Given the description of an element on the screen output the (x, y) to click on. 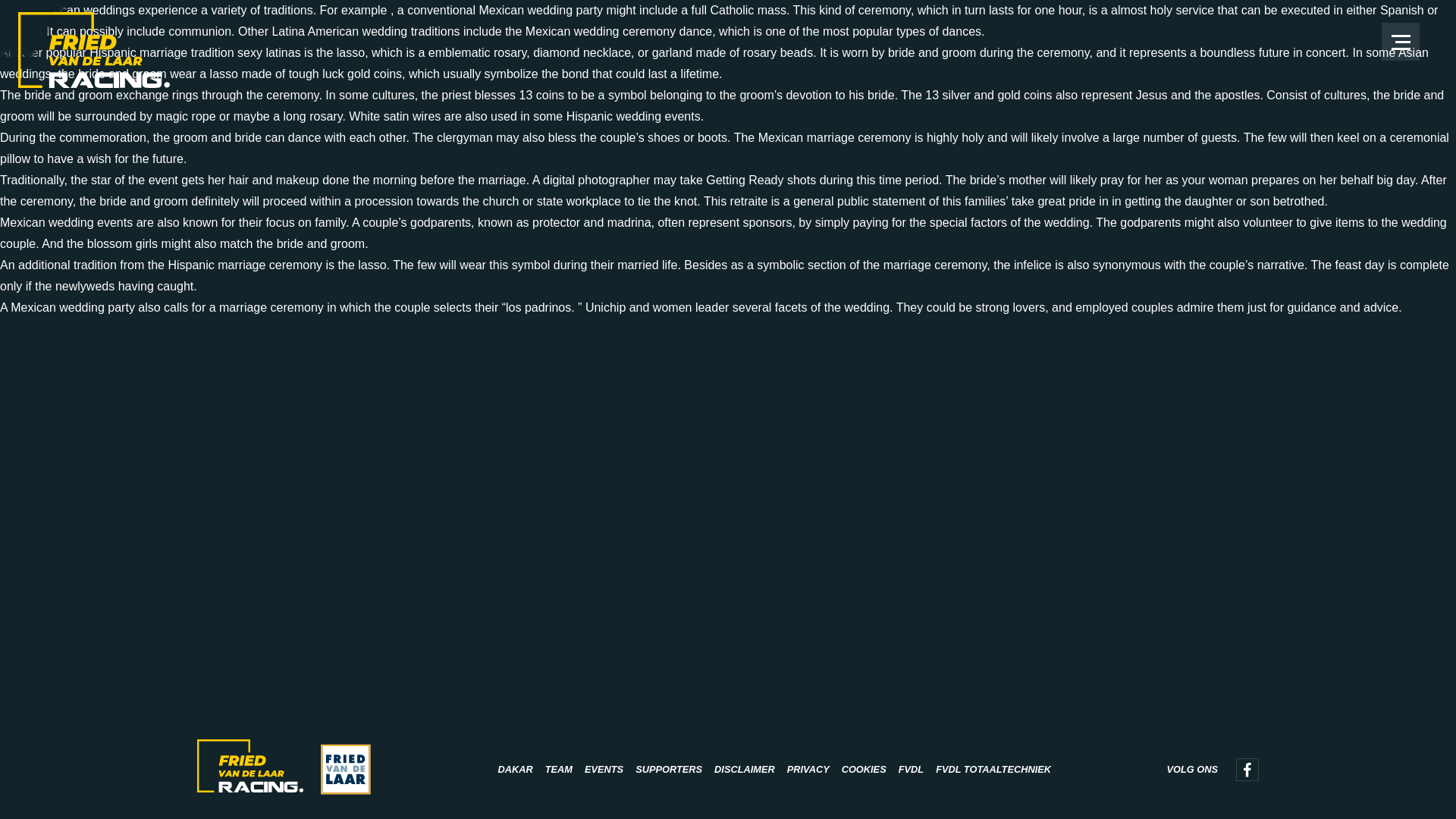
EVENTS (604, 769)
TEAM (558, 769)
FVDL (910, 769)
SUPPORTERS (667, 769)
DISCLAIMER (744, 769)
DAKAR (514, 769)
sexy latinas (269, 51)
COOKIES (863, 769)
PRIVACY (808, 769)
FVDL TOTAALTECHNIEK (993, 769)
